Given the description of an element on the screen output the (x, y) to click on. 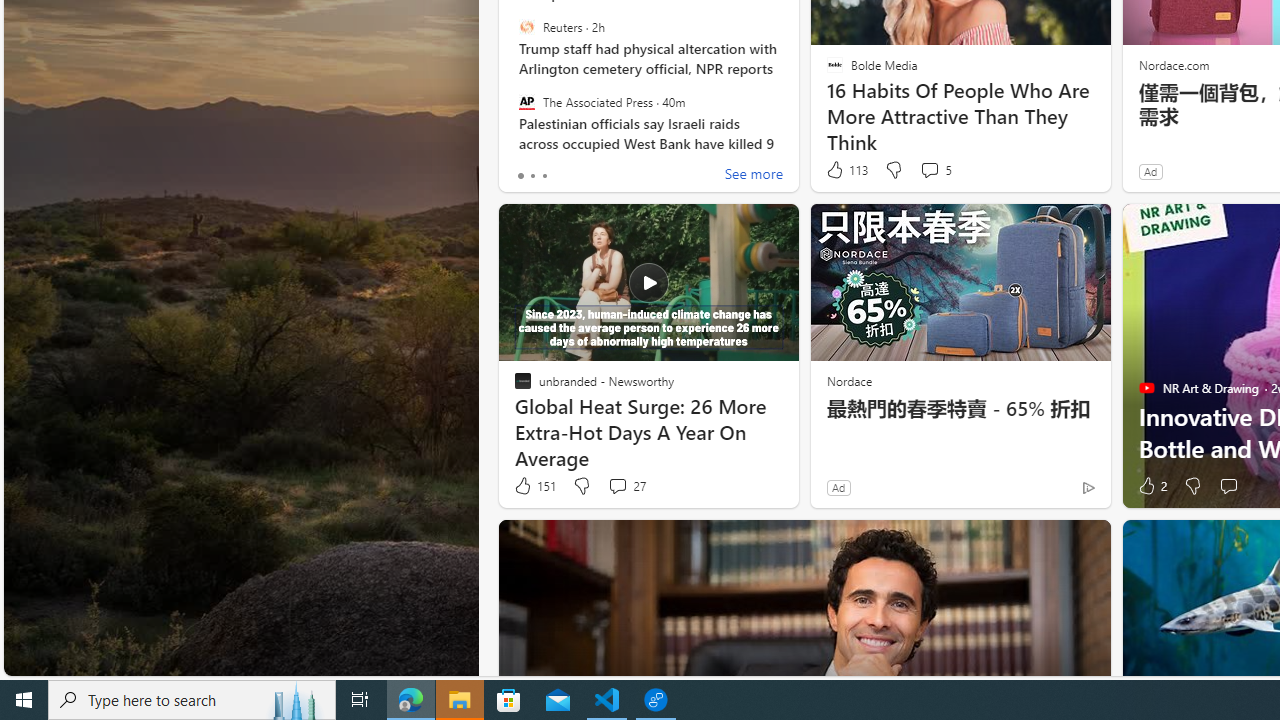
View comments 5 Comment (935, 170)
tab-1 (532, 175)
The Associated Press (526, 101)
tab-2 (543, 175)
View comments 27 Comment (617, 485)
Reuters (526, 27)
